Given the description of an element on the screen output the (x, y) to click on. 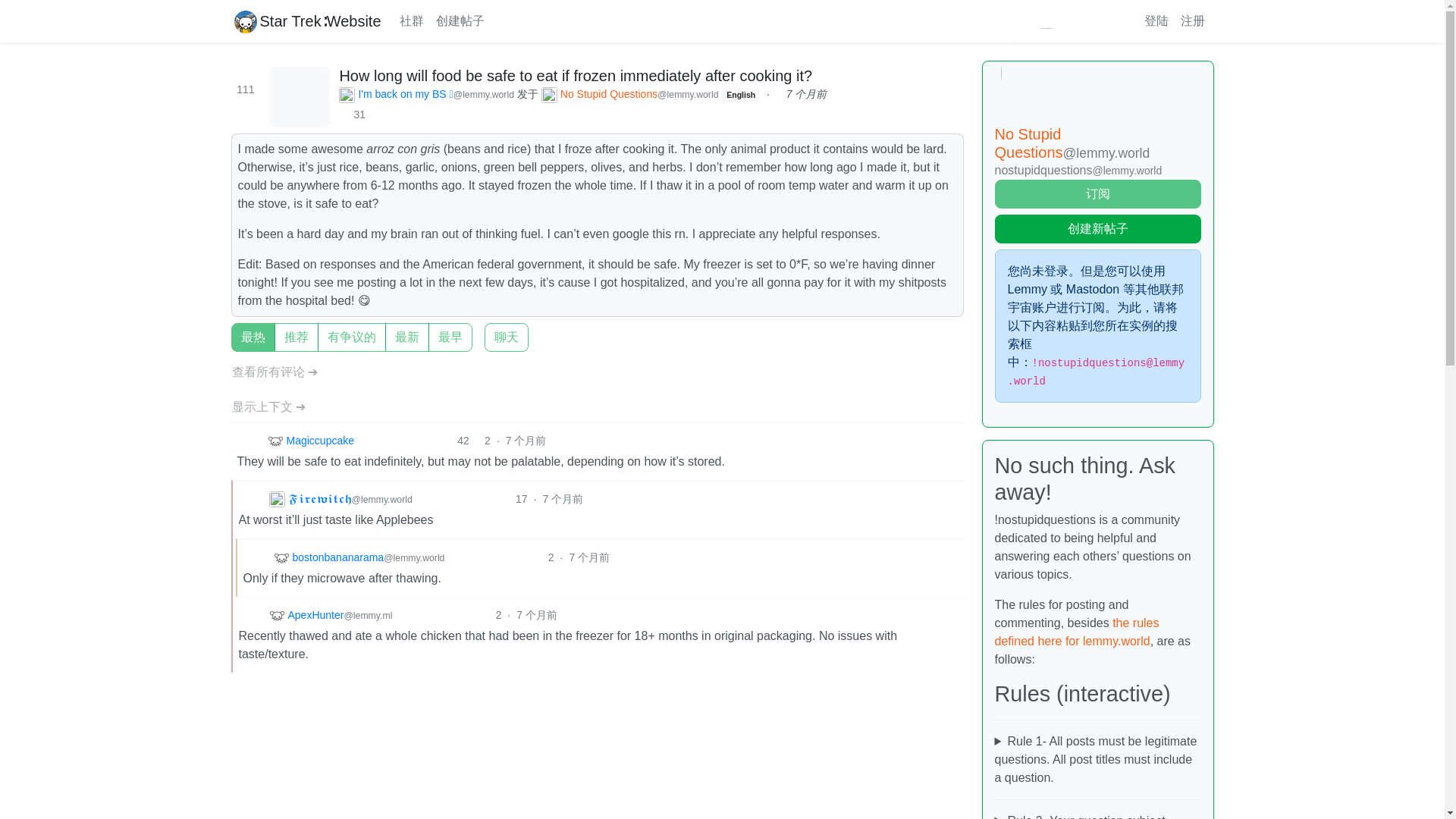
Magiccupcake (309, 441)
Controversial (235, 327)
New (235, 327)
1 (488, 327)
Hot (235, 327)
Old (235, 327)
31 (355, 114)
Top (235, 327)
